Given the description of an element on the screen output the (x, y) to click on. 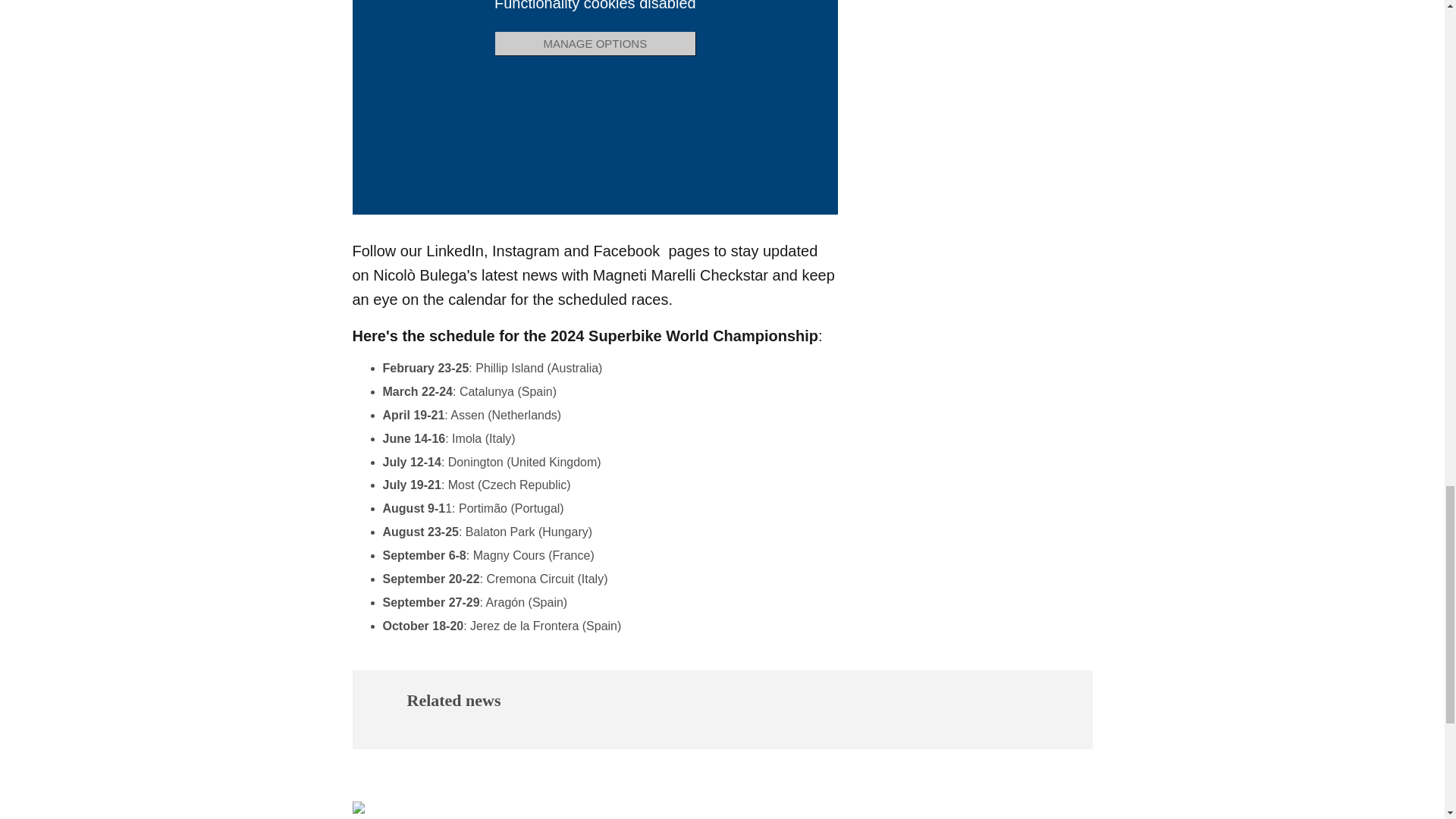
LinkedIn (454, 250)
LinkedIn (454, 250)
Facebook (625, 250)
Instagram (525, 250)
Facebbok (625, 250)
Instagram (525, 250)
MANAGE OPTIONS (595, 43)
